Given the description of an element on the screen output the (x, y) to click on. 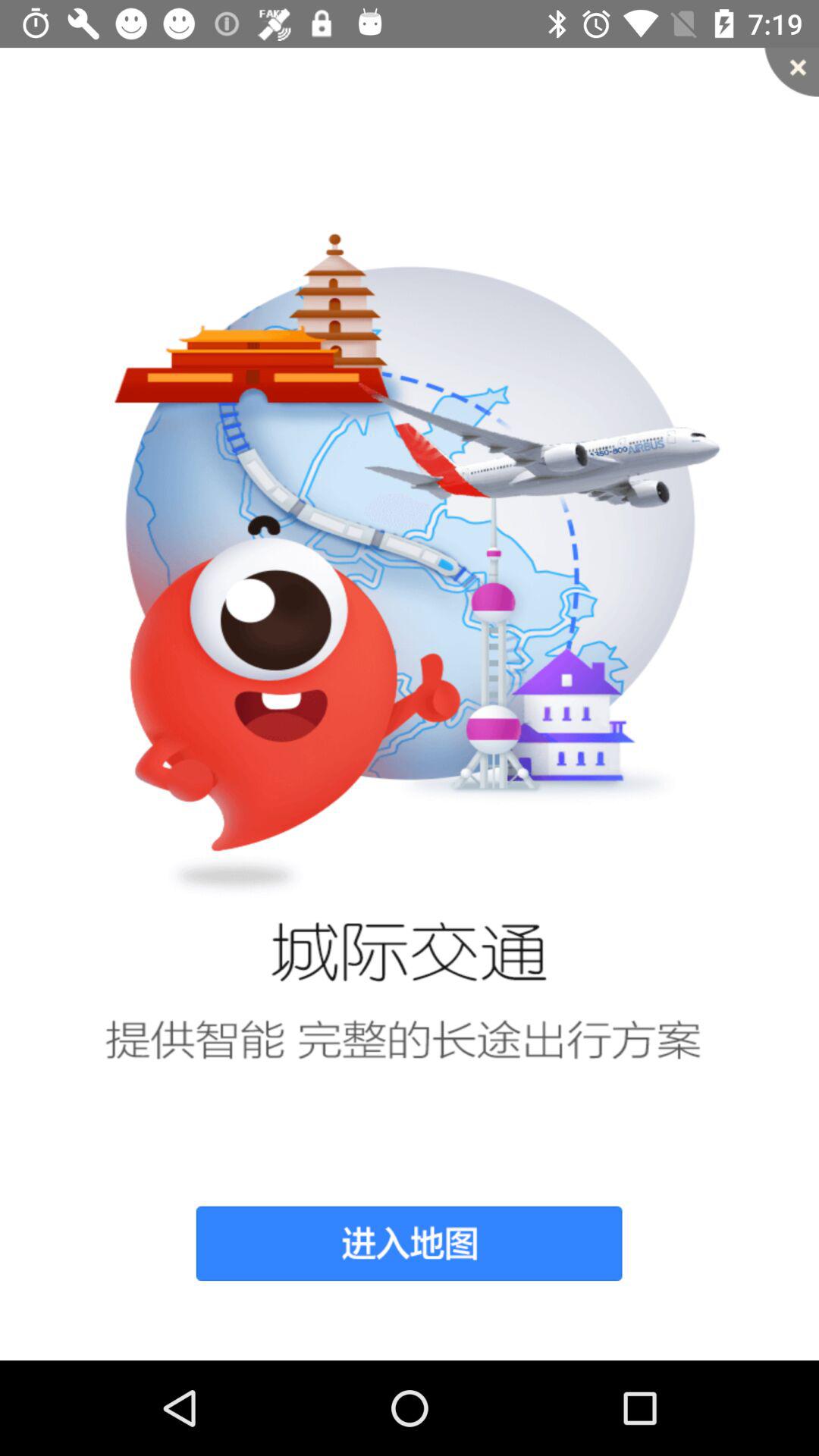
select item at the top right corner (791, 71)
